Given the description of an element on the screen output the (x, y) to click on. 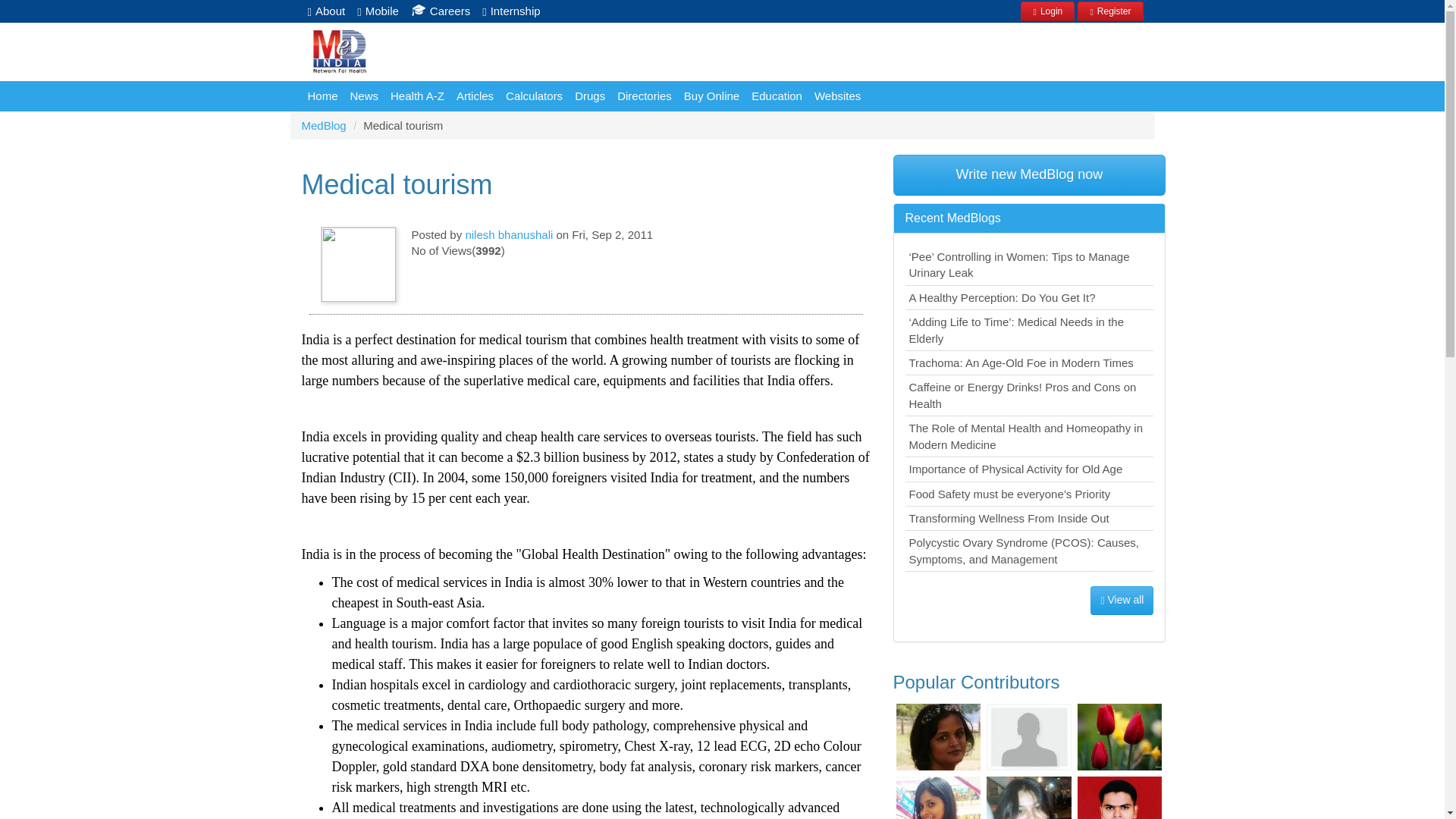
A Healthy Perception: Do You Get It? (1029, 297)
nilesh bhanushali (508, 234)
Buy Online (711, 96)
Mobile (377, 11)
Trachoma: An Age-Old Foe in Modern Times (1029, 362)
Register (1109, 9)
Internship (511, 11)
Directories (644, 96)
About (326, 11)
Login (1047, 11)
Register (1109, 11)
Websites (837, 96)
Drugs (590, 96)
News (364, 96)
Dr.Trupti (1029, 797)
